Given the description of an element on the screen output the (x, y) to click on. 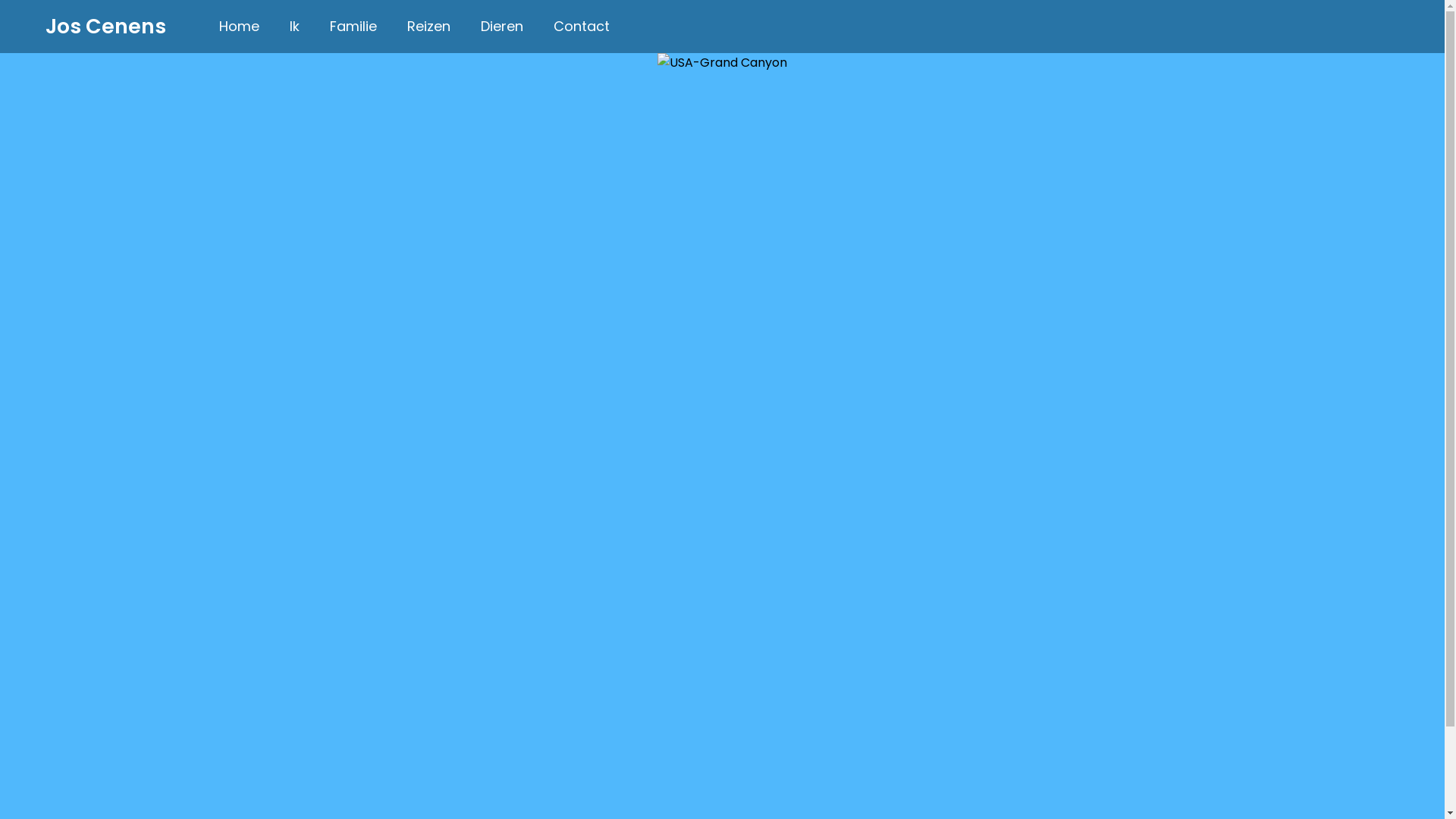
Home Element type: text (238, 25)
Ik Element type: text (294, 25)
Familie Element type: text (353, 25)
Contact Element type: text (581, 25)
Reizen Element type: text (428, 25)
Dieren Element type: text (501, 25)
